Given the description of an element on the screen output the (x, y) to click on. 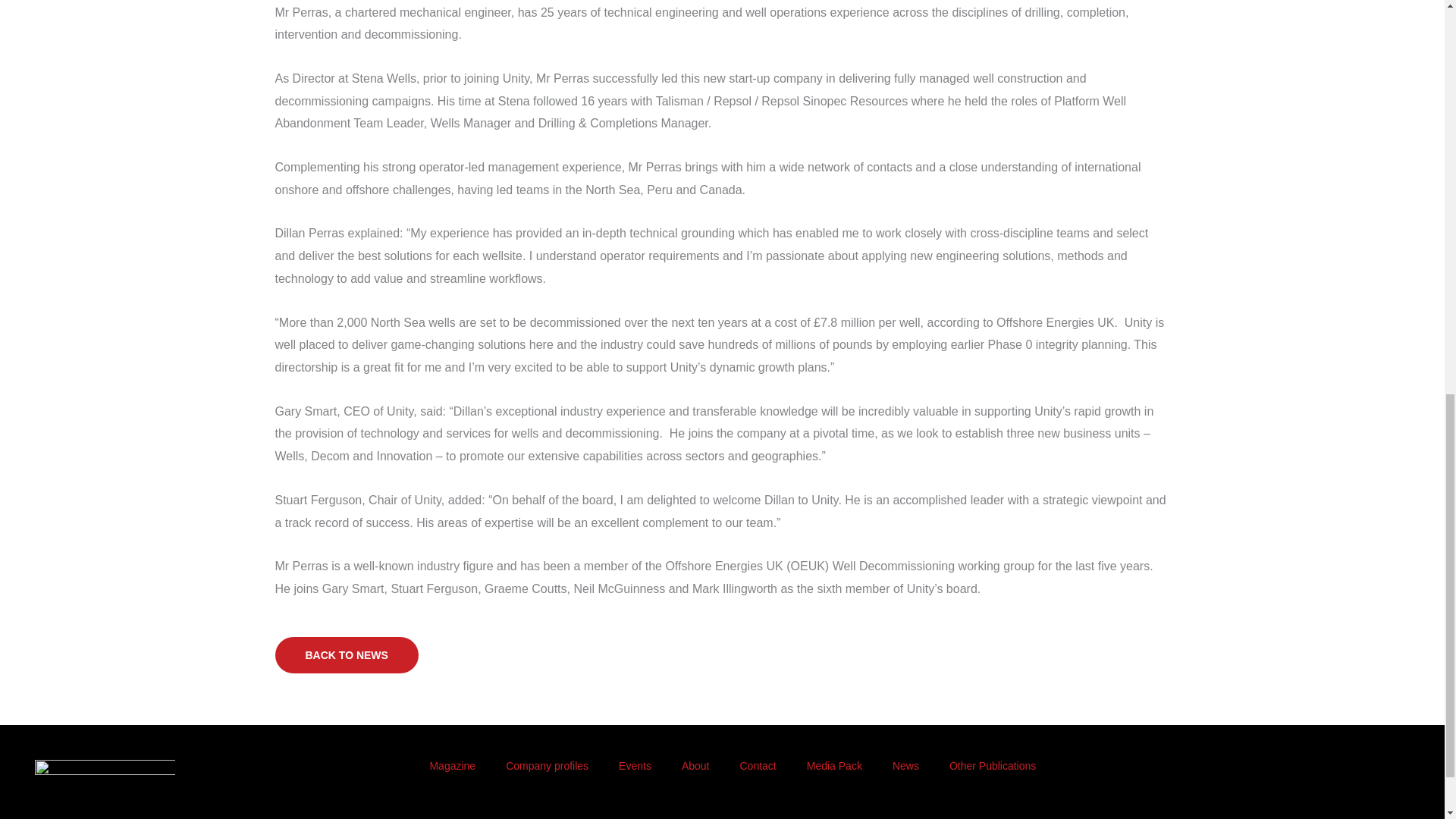
About (695, 765)
Events (635, 765)
BACK TO NEWS (346, 655)
Media Pack (834, 765)
Company profiles (547, 765)
Magazine (451, 765)
News (905, 765)
Other Publications (992, 765)
Contact (756, 765)
